Given the description of an element on the screen output the (x, y) to click on. 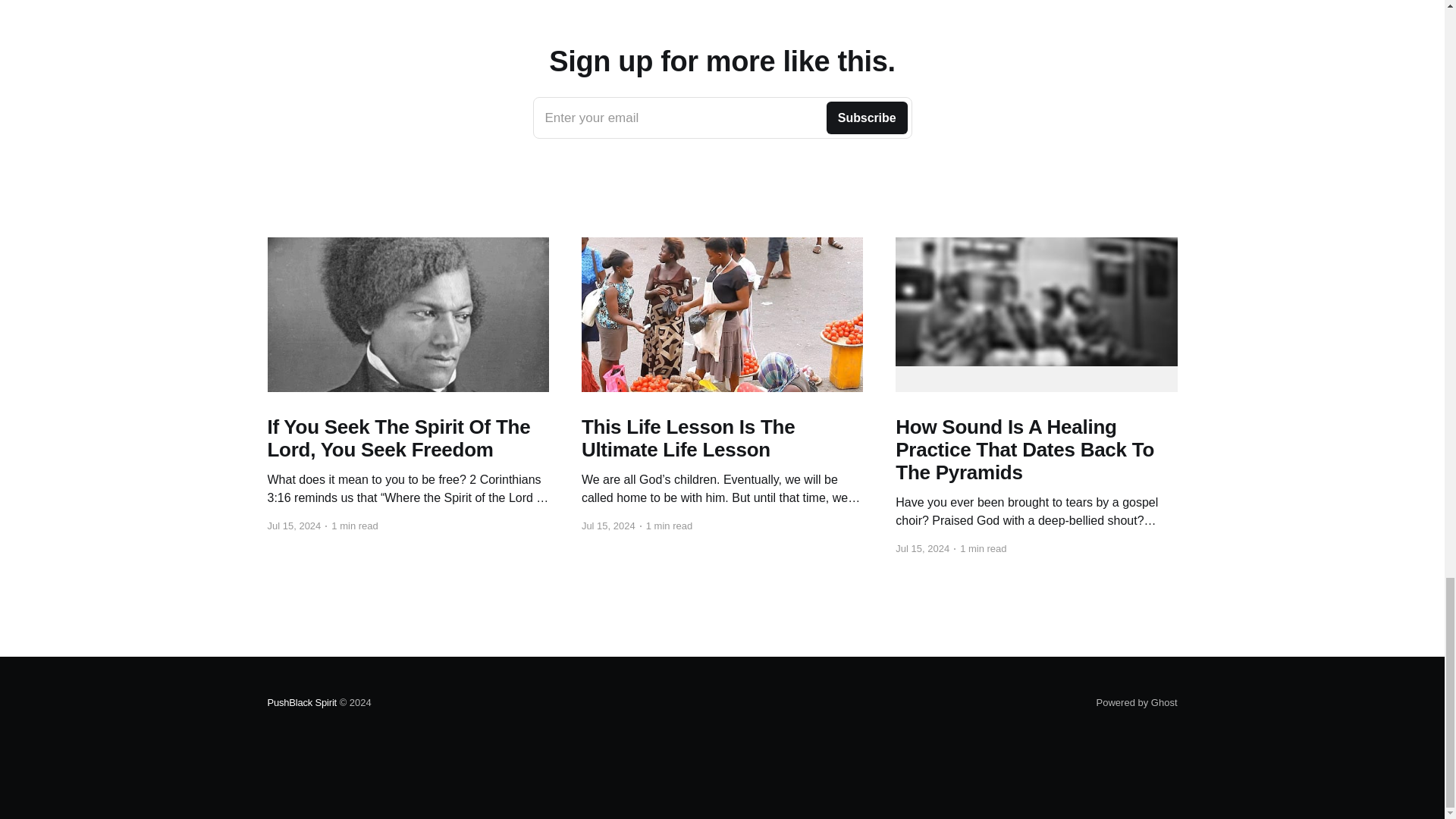
Powered by Ghost (1136, 702)
PushBlack Spirit (721, 118)
